Given the description of an element on the screen output the (x, y) to click on. 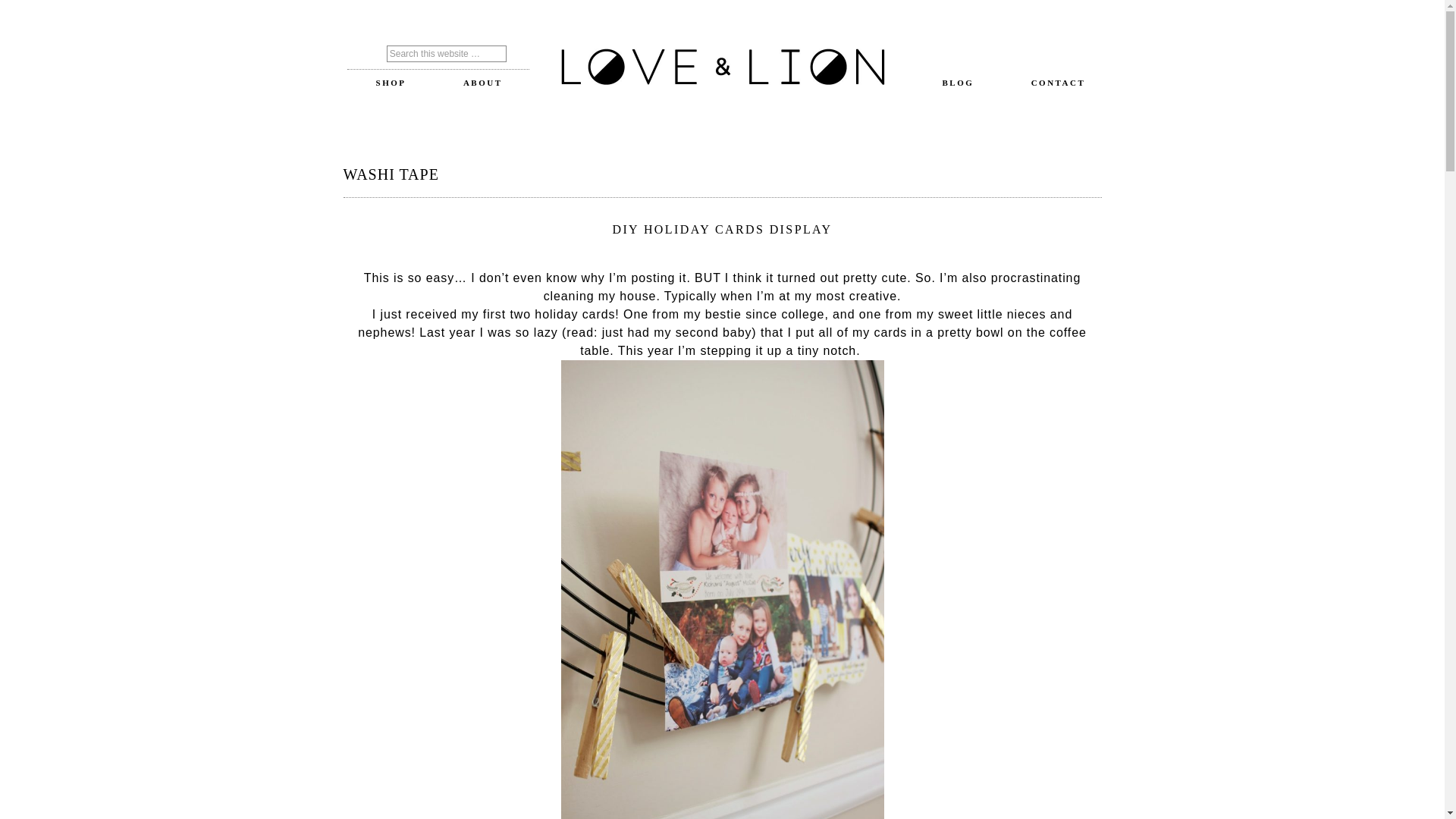
SHOP (390, 82)
DIY HOLIDAY CARDS DISPLAY (721, 228)
LOVE AND LION (722, 68)
ABOUT (482, 82)
CONTACT (1058, 82)
BLOG (958, 82)
